Given the description of an element on the screen output the (x, y) to click on. 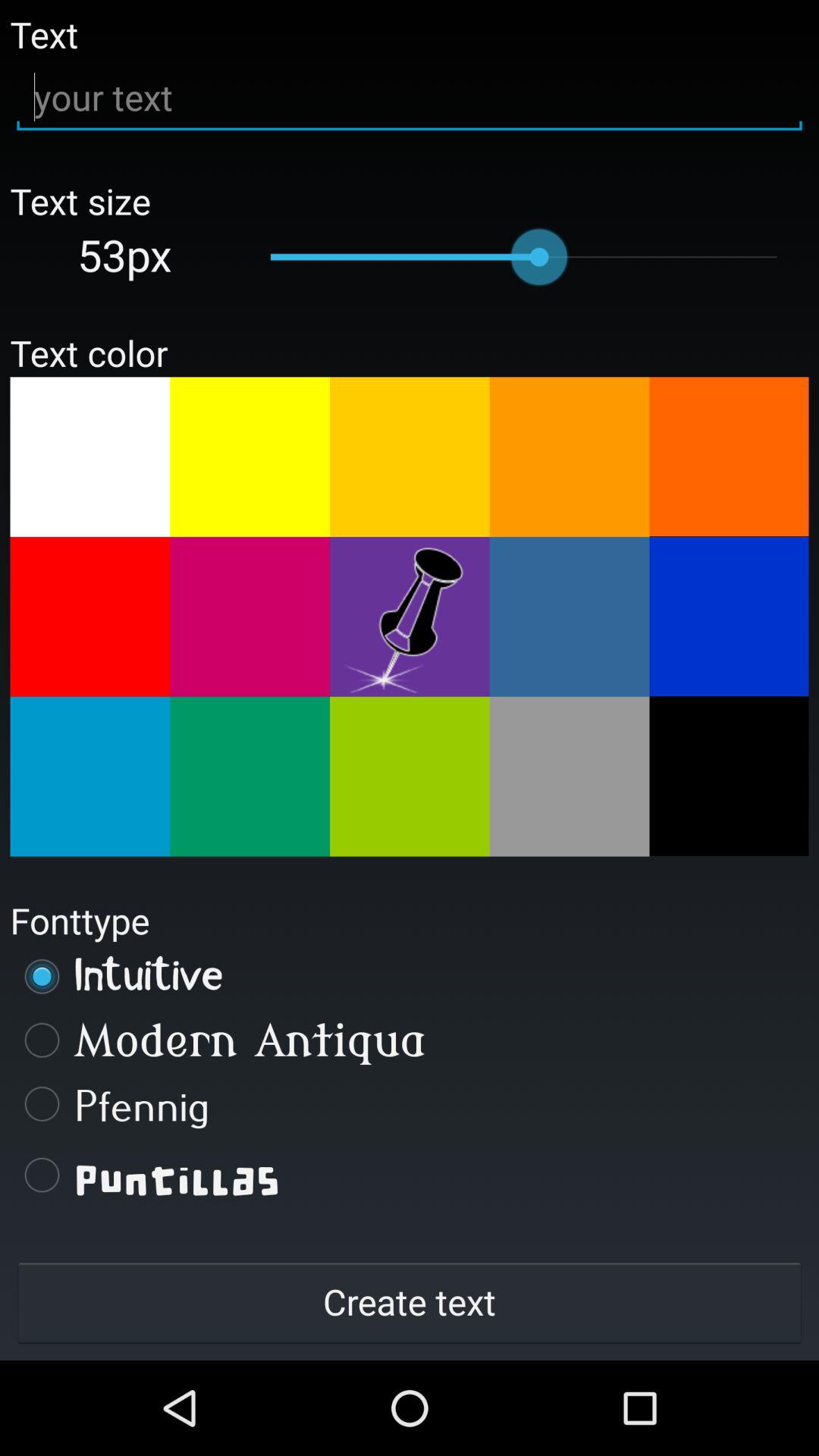
select color (728, 616)
